Given the description of an element on the screen output the (x, y) to click on. 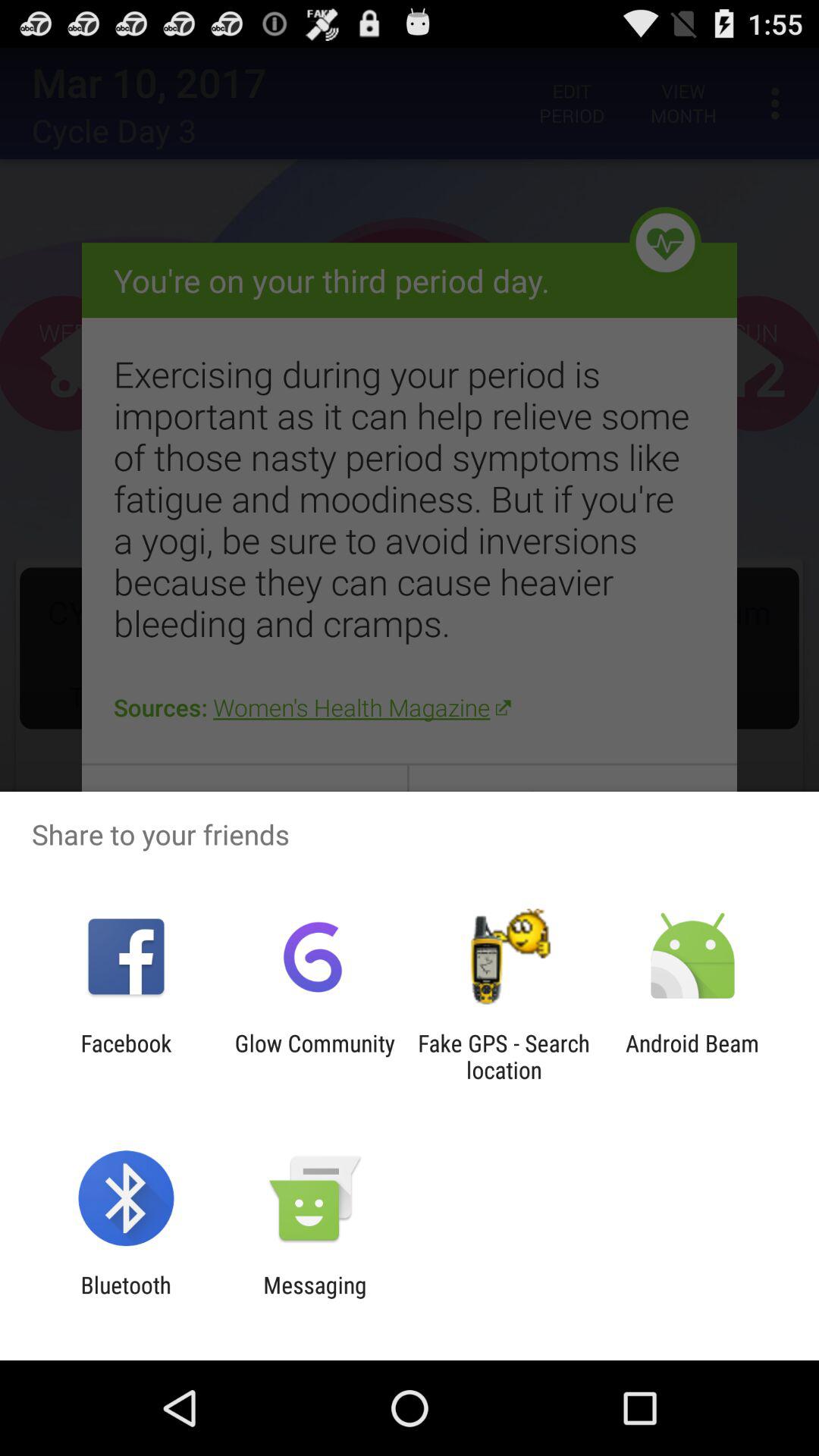
click app next to the android beam (503, 1056)
